Given the description of an element on the screen output the (x, y) to click on. 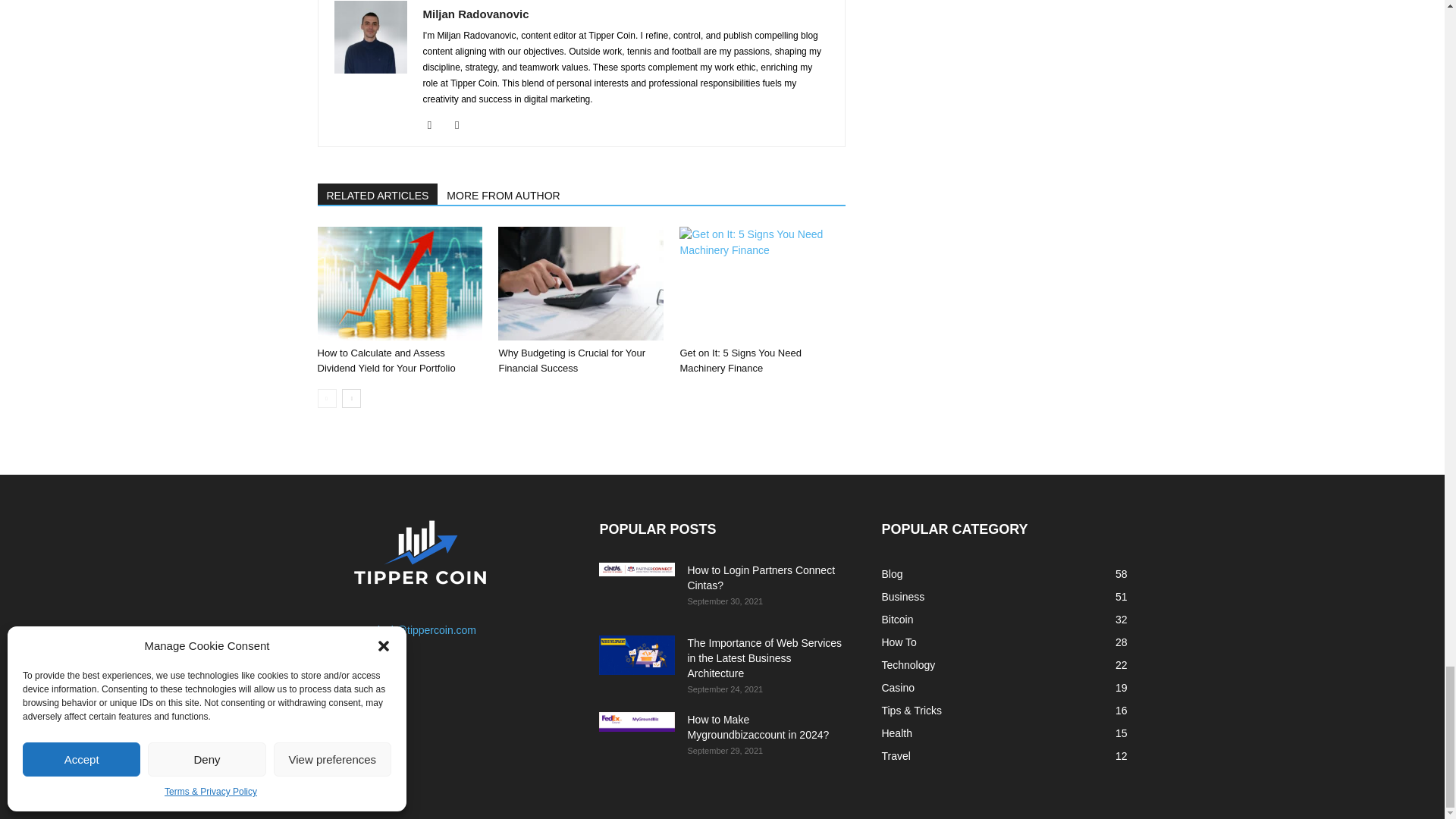
Linkedin (462, 125)
Instagram (435, 125)
